Given the description of an element on the screen output the (x, y) to click on. 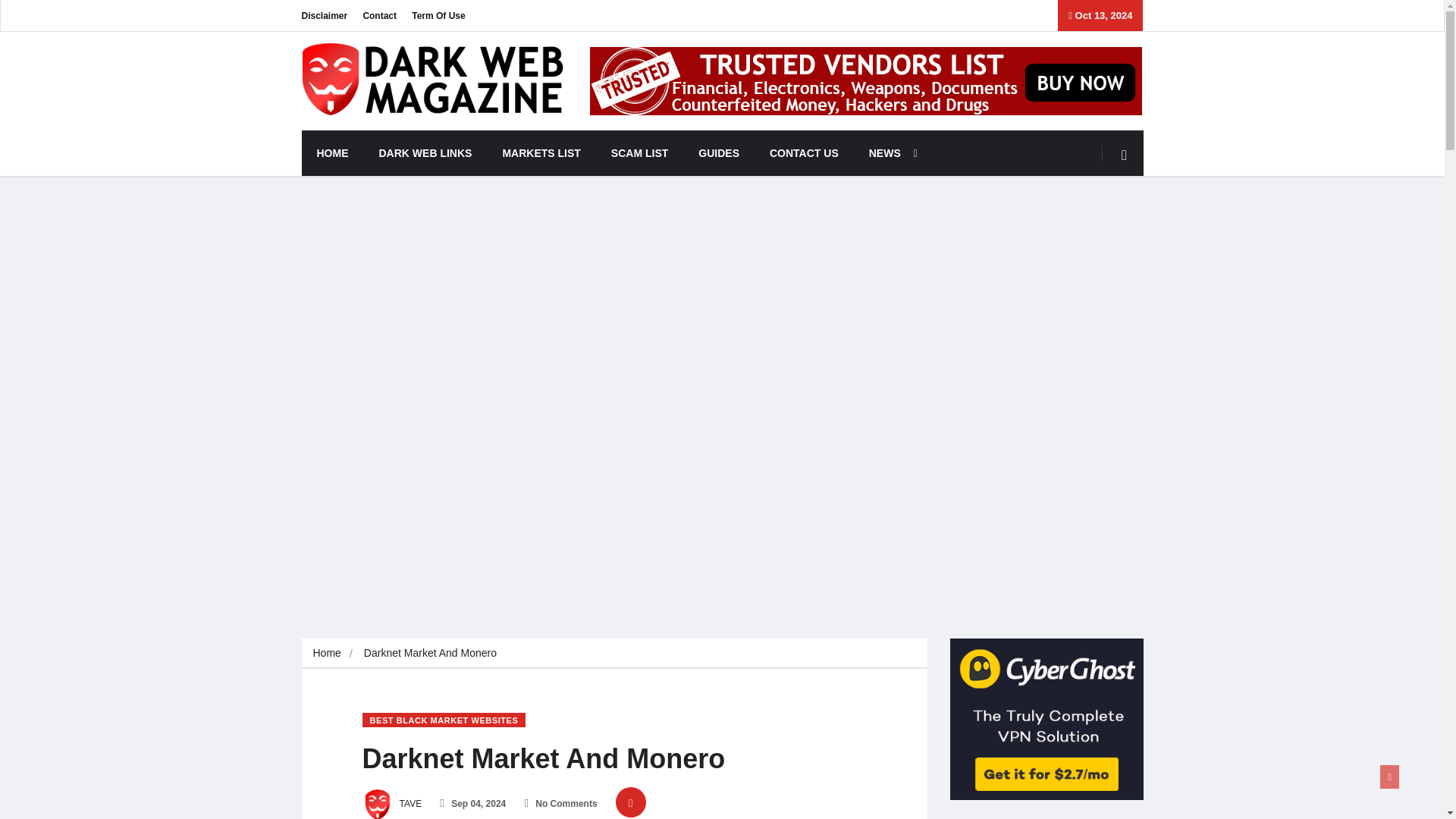
SCAM LIST (638, 153)
MARKETS LIST (540, 153)
Home (326, 653)
Contact (379, 15)
NEWS (888, 153)
Disclaimer (324, 15)
TAVE (392, 803)
HOME (332, 153)
CONTACT US (803, 153)
DARK WEB LINKS (425, 153)
GUIDES (718, 153)
BEST BLACK MARKET WEBSITES (443, 719)
Term Of Use (438, 15)
